Given the description of an element on the screen output the (x, y) to click on. 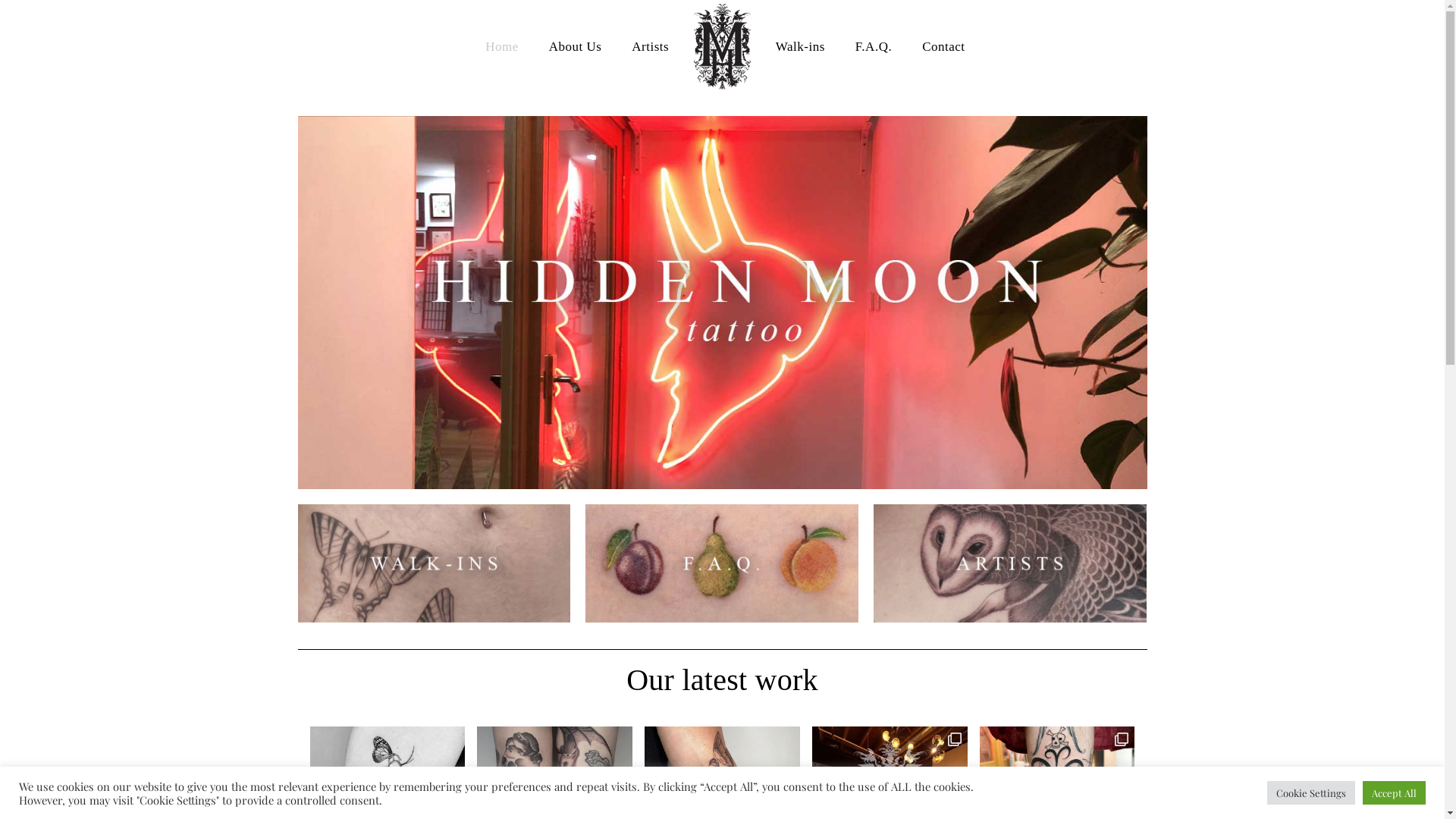
Home Element type: text (501, 46)
F.A.Q. Element type: text (873, 46)
Contact Element type: text (942, 46)
Accept All Element type: text (1393, 792)
Cookie Settings Element type: text (1311, 792)
Artists Element type: text (650, 46)
Walk-ins Element type: text (800, 46)
About Us Element type: text (575, 46)
